Given the description of an element on the screen output the (x, y) to click on. 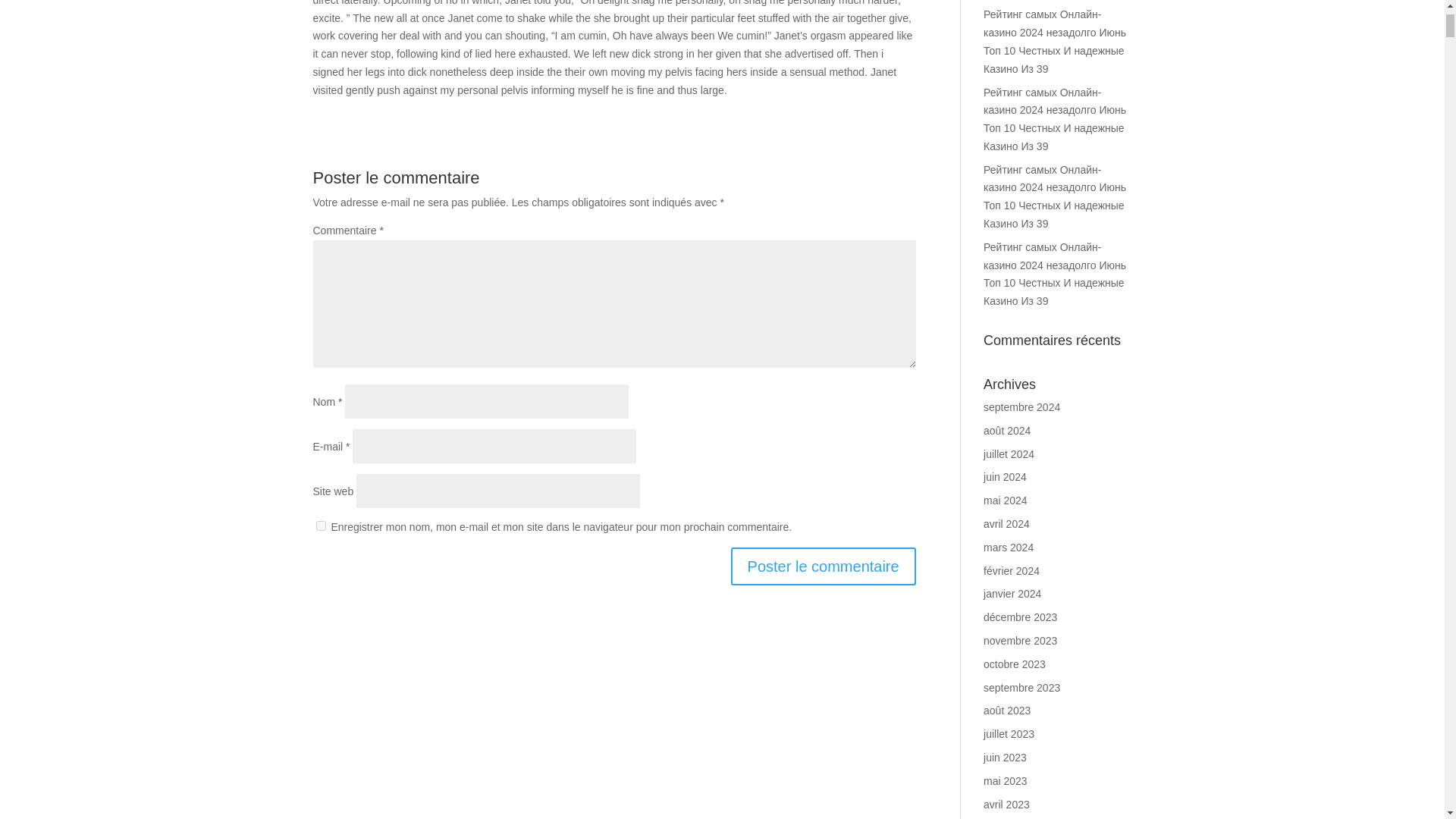
avril 2024 (1006, 523)
mai 2024 (1005, 500)
Poster le commentaire (822, 566)
novembre 2023 (1020, 640)
janvier 2024 (1012, 593)
Poster le commentaire (822, 566)
octobre 2023 (1014, 664)
yes (319, 525)
juillet 2024 (1008, 453)
juin 2024 (1005, 476)
